Given the description of an element on the screen output the (x, y) to click on. 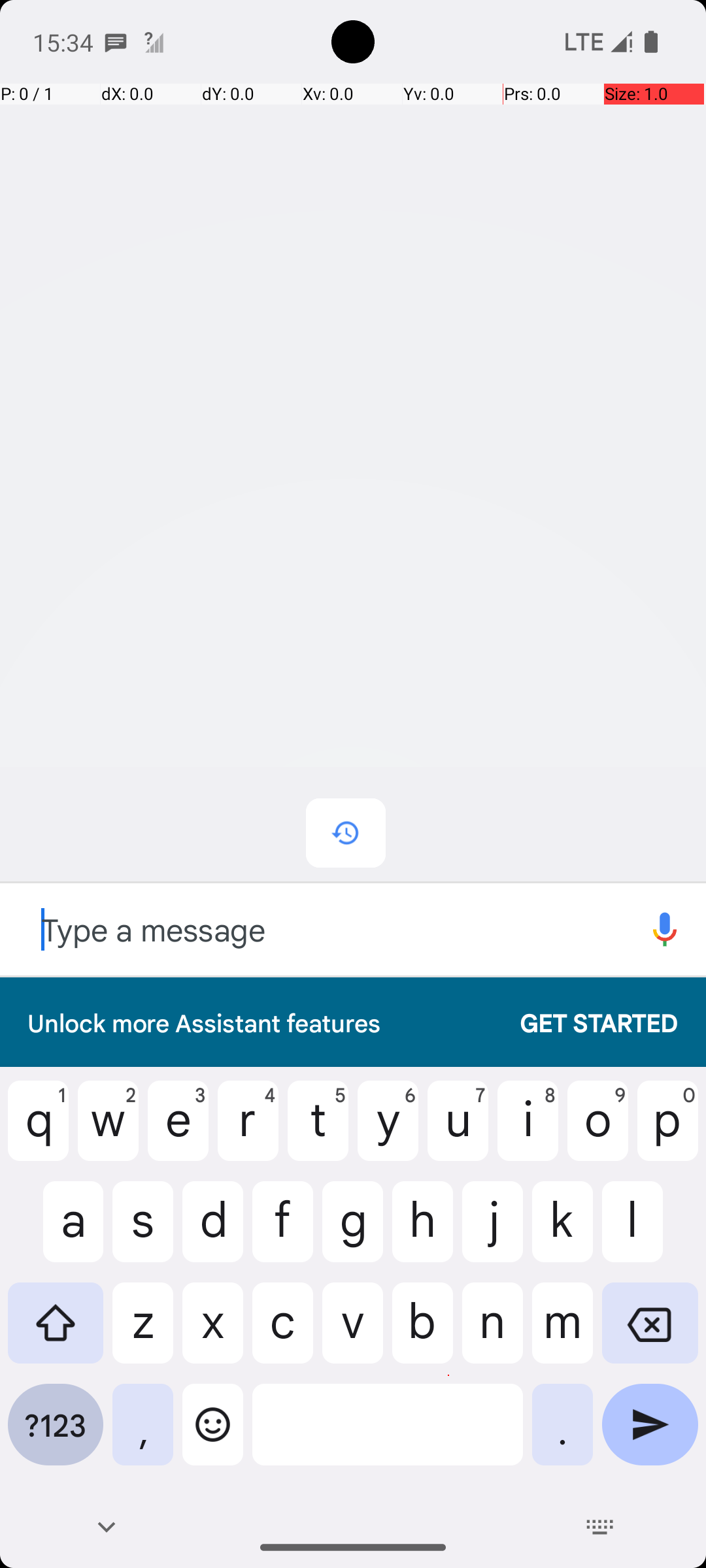
Tap to dismiss Assistant Element type: android.view.ViewGroup (353, 574)
Google Assistant widget. Element type: android.support.v7.widget.RecyclerView (353, 530)
Type a message Element type: android.widget.EditText (311, 929)
Unlock more Assistant features Element type: android.widget.TextView (259, 1021)
GET STARTED Element type: android.widget.TextView (585, 1021)
Open explore page Element type: android.widget.ImageView (664, 928)
Send Element type: android.widget.FrameLayout (649, 1434)
